Given the description of an element on the screen output the (x, y) to click on. 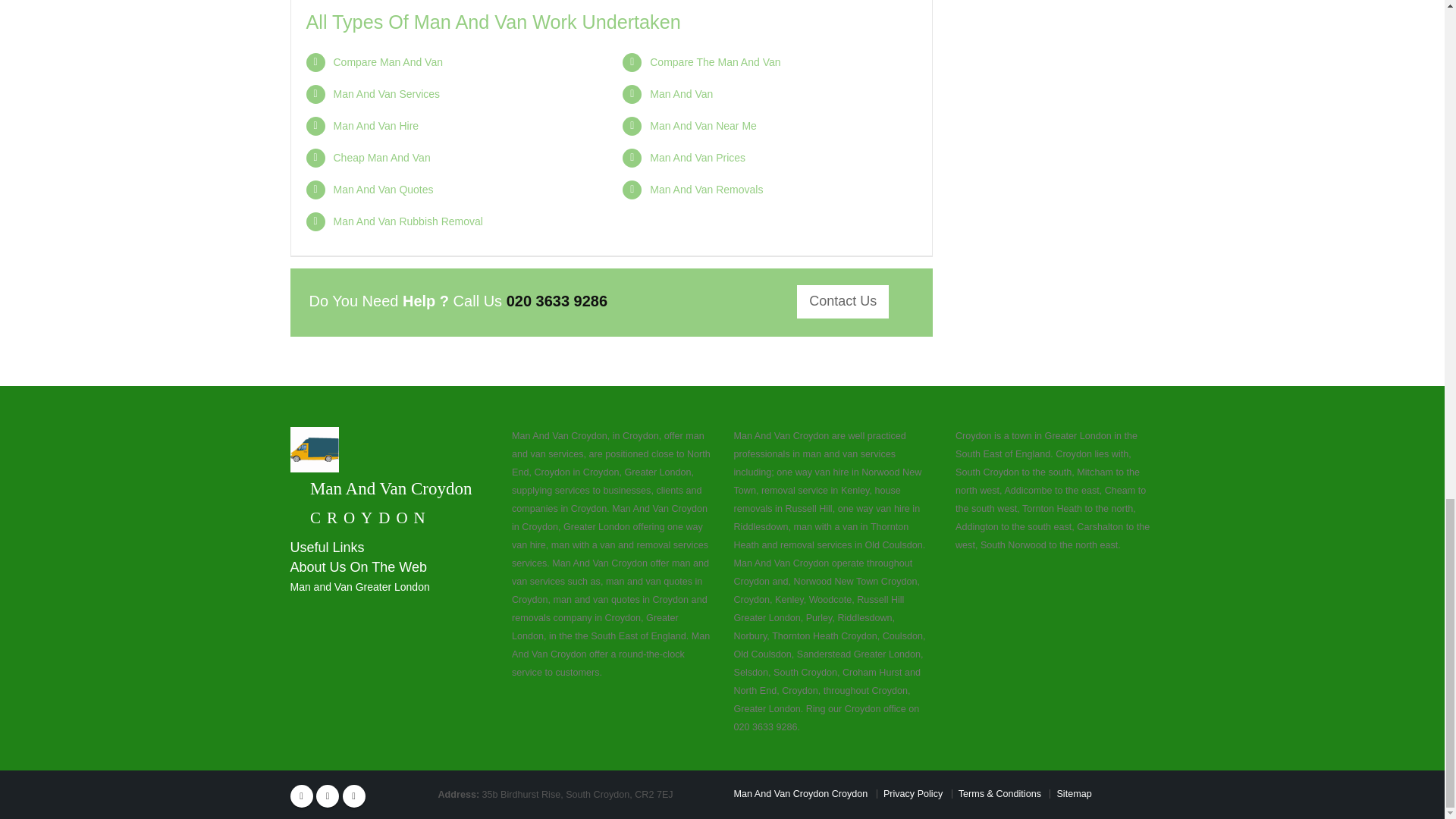
Contact Us (842, 301)
Cheap Man And Van (381, 157)
Compare Man And Van (388, 61)
Linkedin (353, 795)
Man And Van Services (387, 93)
Man And Van Near Me (703, 125)
Man And Van Hire (376, 125)
Man And Van (681, 93)
Twitter (327, 795)
Compare The Man And Van (714, 61)
